Given the description of an element on the screen output the (x, y) to click on. 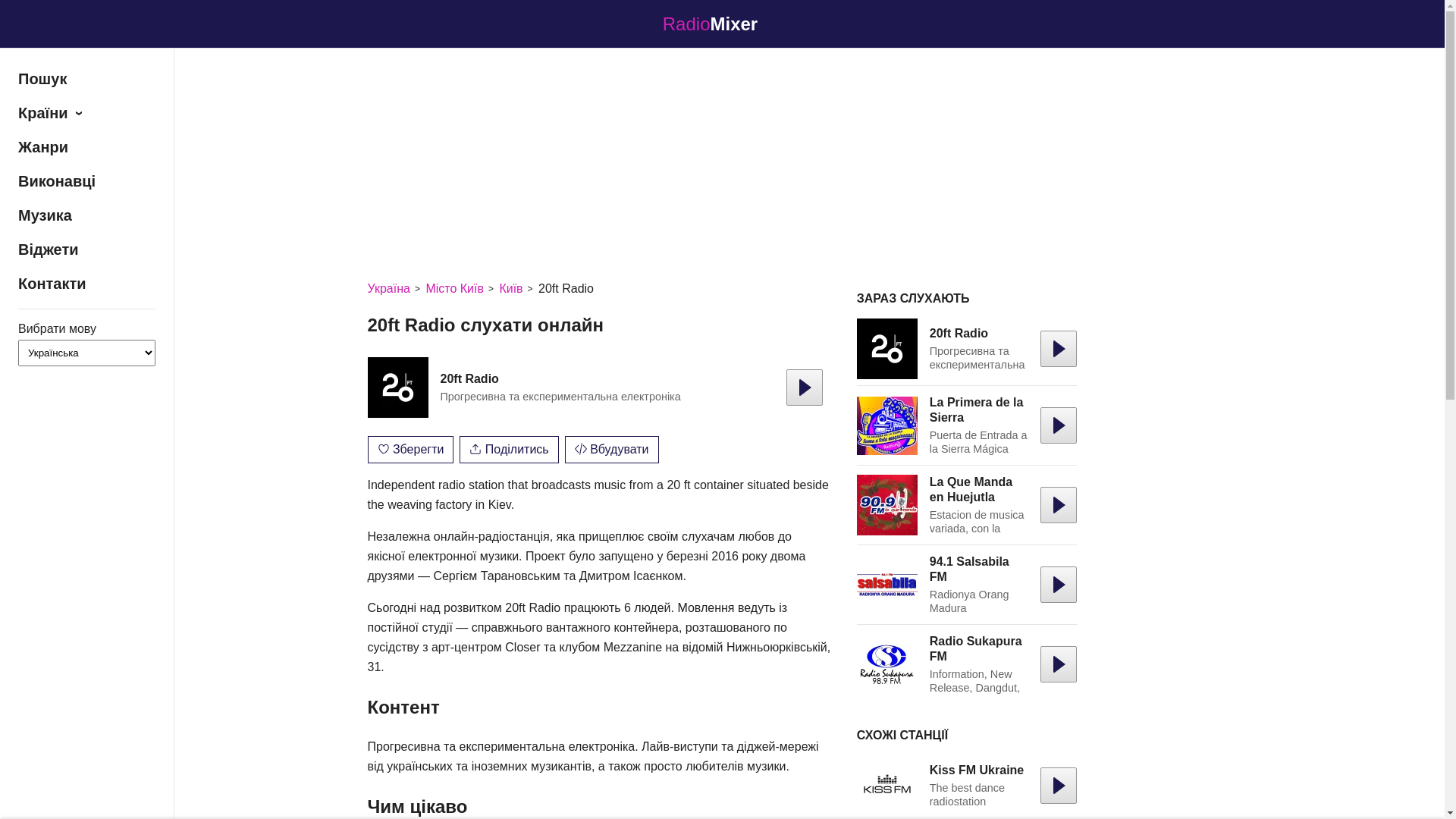
20ft Radio Element type: text (958, 332)
Radio Sukapura FM Element type: hover (886, 663)
La Primera de la Sierra Element type: text (976, 409)
Advertisement Element type: hover (721, 160)
Kiss FM Ukraine Element type: hover (886, 785)
La Primera de la Sierra Element type: hover (886, 425)
Radio Sukapura FM Element type: text (975, 648)
Kiss FM Ukraine Element type: text (976, 769)
RadioMixer Element type: text (721, 24)
La Que Manda en Huejutla Element type: text (970, 489)
94.1 Salsabila FM Element type: hover (886, 584)
20ft Radio Element type: text (468, 378)
20ft Radio Element type: hover (886, 348)
20ft Radio Element type: hover (397, 387)
La Que Manda en Huejutla Element type: hover (886, 504)
94.1 Salsabila FM Element type: text (969, 569)
